Given the description of an element on the screen output the (x, y) to click on. 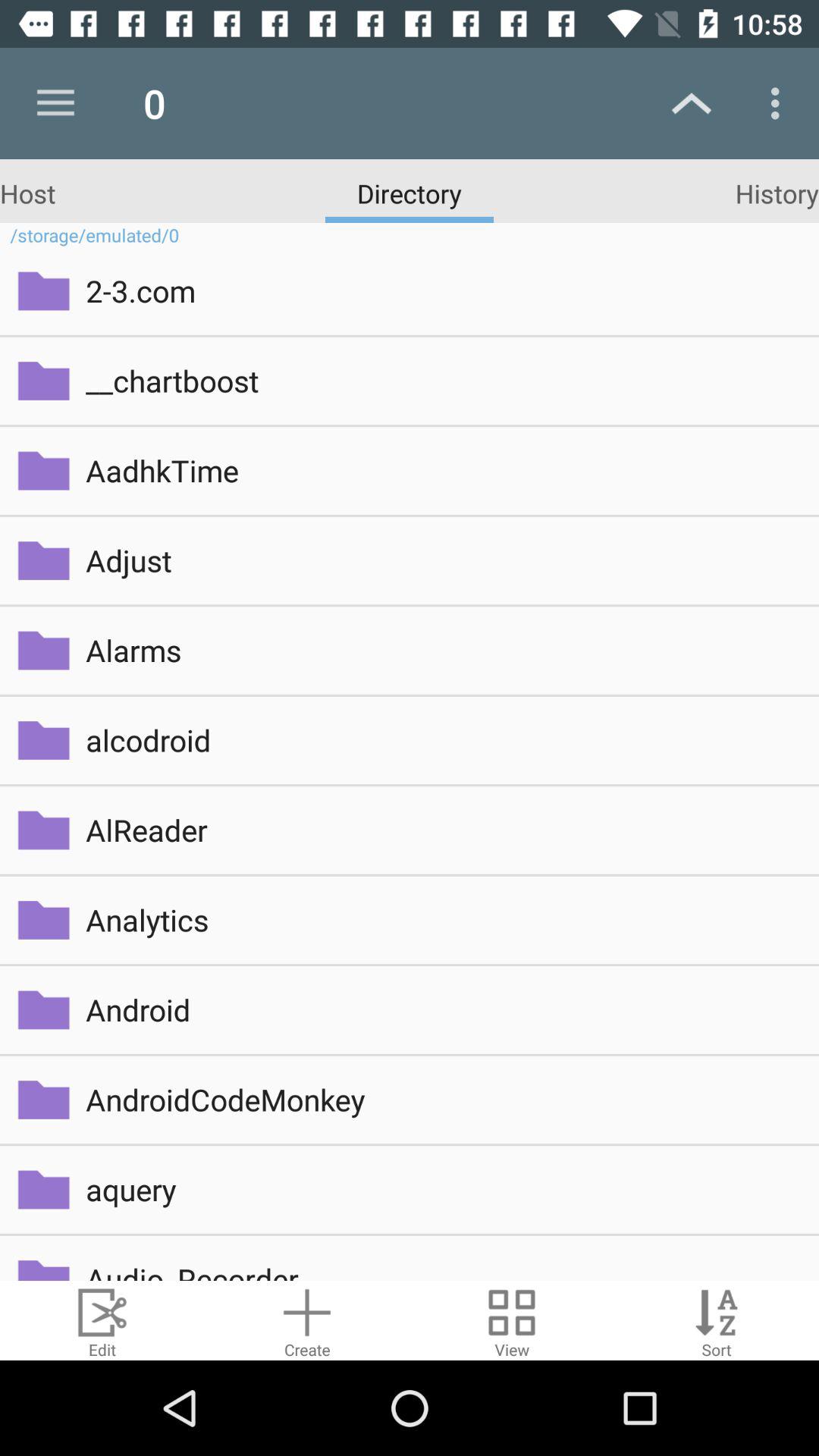
turn off the icon next to the 0 icon (55, 103)
